Given the description of an element on the screen output the (x, y) to click on. 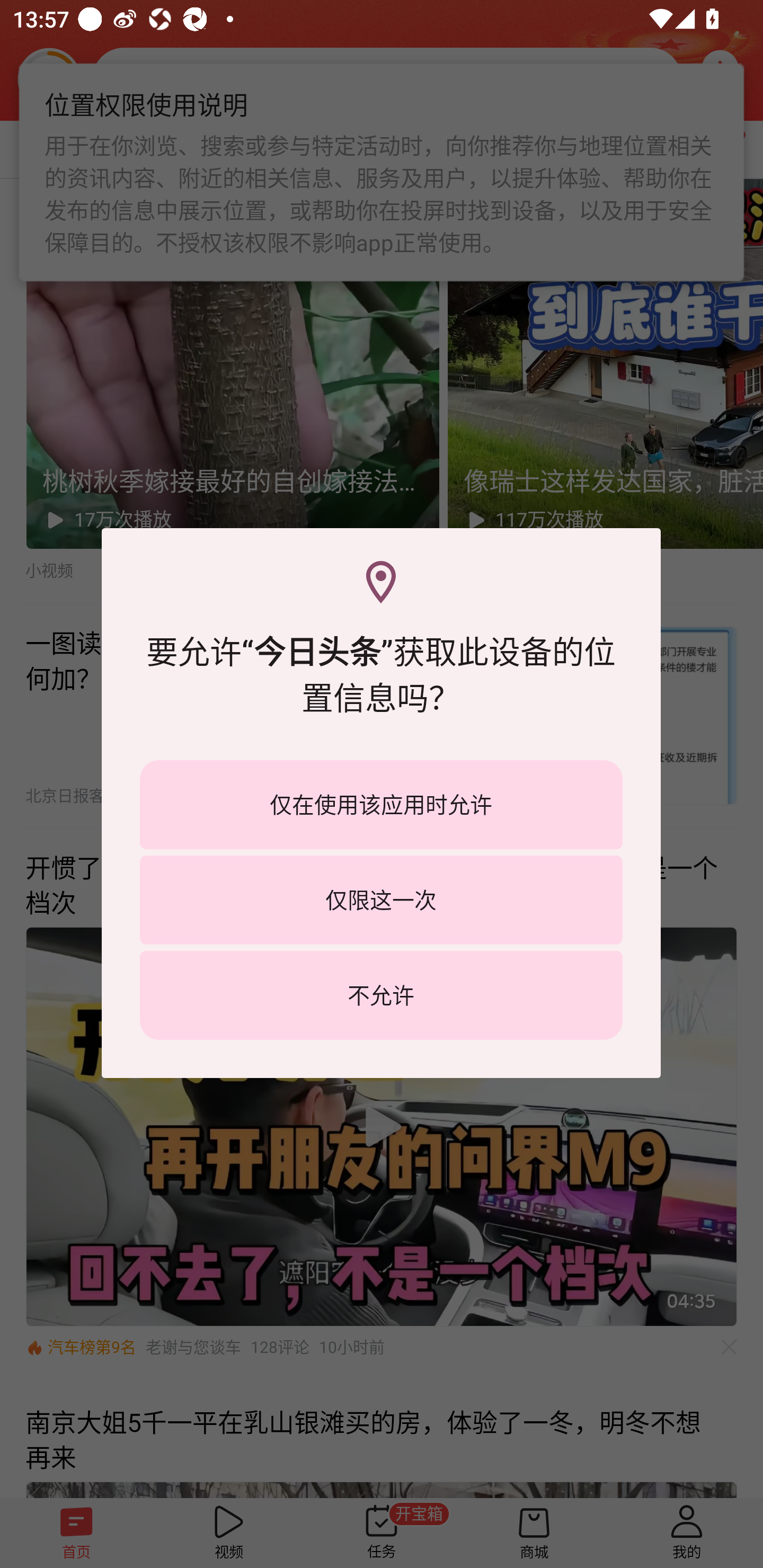
仅在使用该应用时允许 (380, 804)
仅限这一次 (380, 899)
不允许 (380, 994)
